Given the description of an element on the screen output the (x, y) to click on. 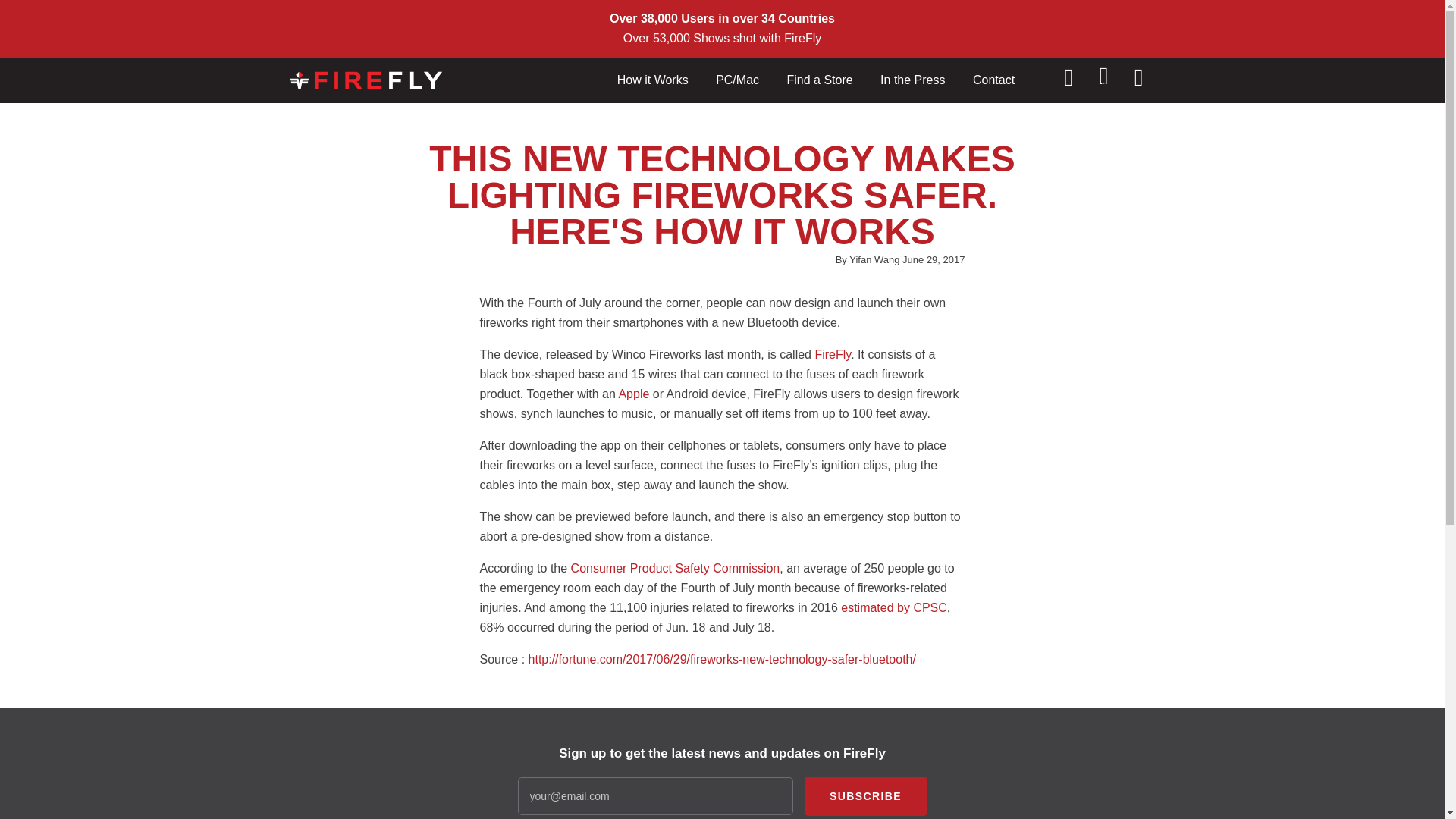
Subscribe (864, 795)
estimated by CPSC (894, 607)
Contact (993, 79)
Consumer Product Safety Commission (675, 567)
Apple (633, 393)
Subscribe (864, 795)
In the Press (911, 79)
How it Works (652, 79)
FireFly (831, 354)
Find a Store (819, 79)
